Given the description of an element on the screen output the (x, y) to click on. 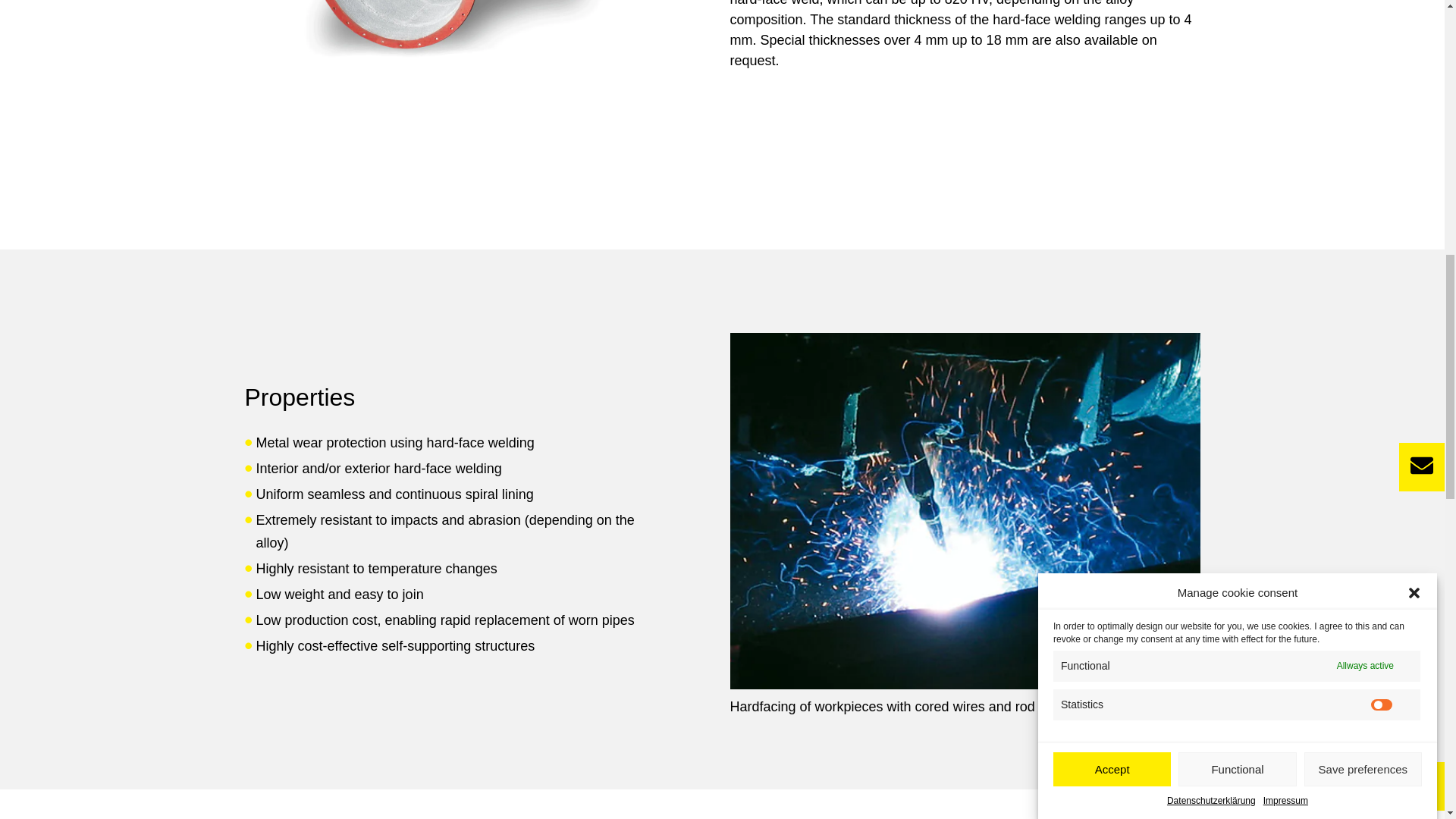
Accept (1111, 223)
Impressum (1285, 101)
Save preferences (1363, 149)
Functional (1236, 192)
